Given the description of an element on the screen output the (x, y) to click on. 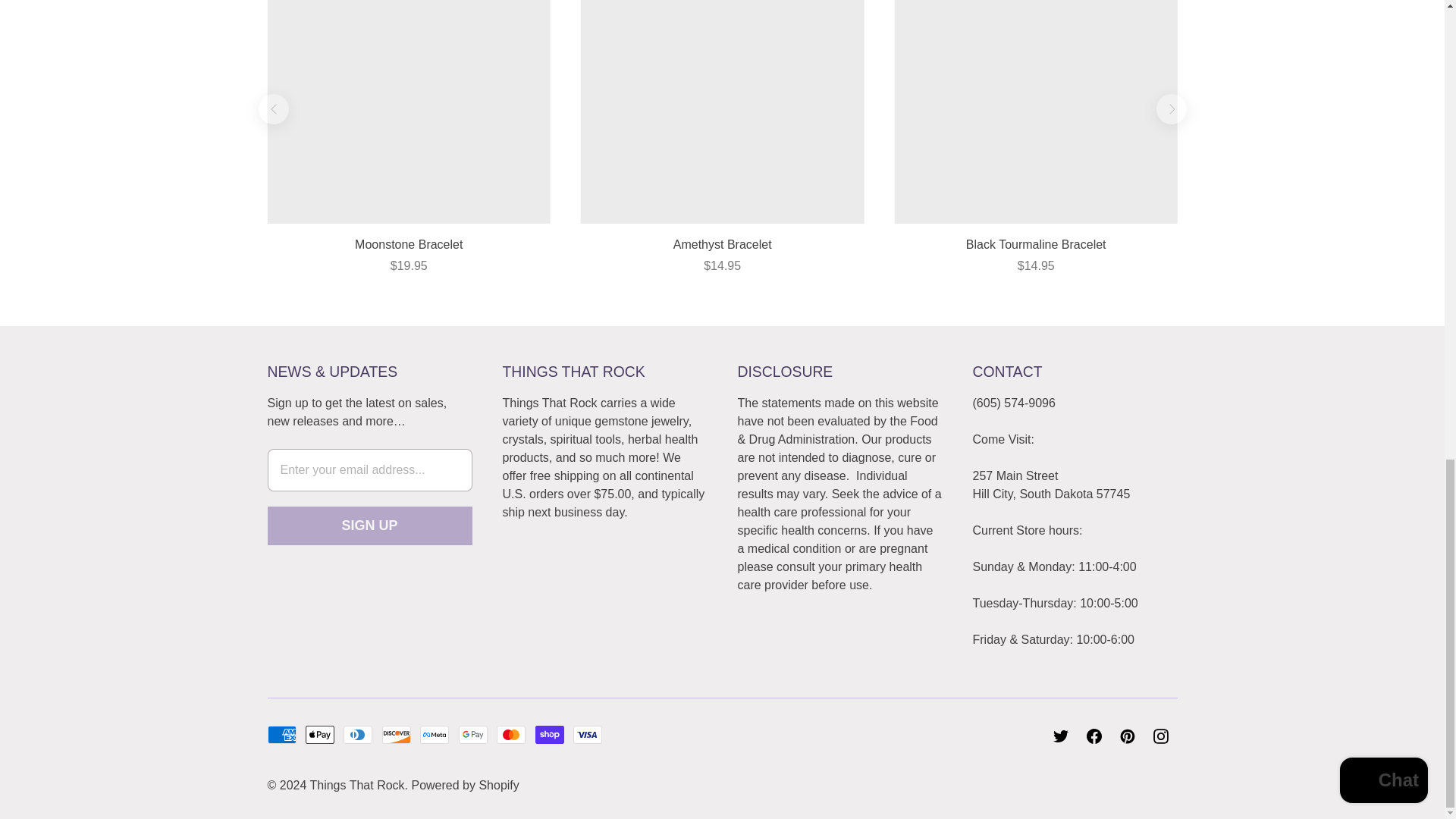
Meta Pay (434, 734)
Mastercard (510, 734)
Google Pay (472, 734)
Diners Club (357, 734)
Visa (587, 734)
Shop Pay (549, 734)
Discover (395, 734)
American Express (280, 734)
Sign Up (368, 525)
Apple Pay (319, 734)
